Given the description of an element on the screen output the (x, y) to click on. 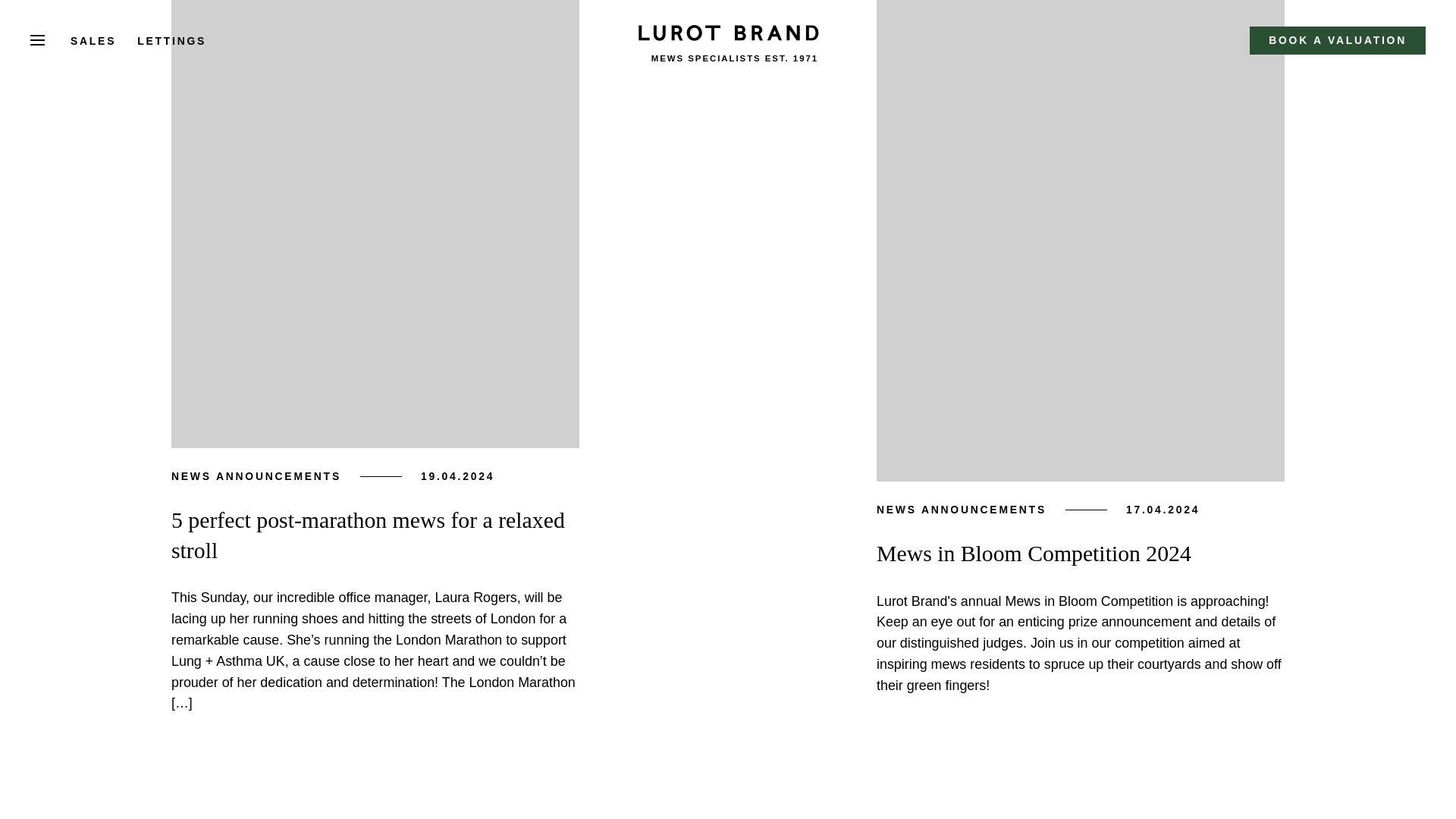
News Announcements (255, 476)
News Announcements (961, 509)
